Given the description of an element on the screen output the (x, y) to click on. 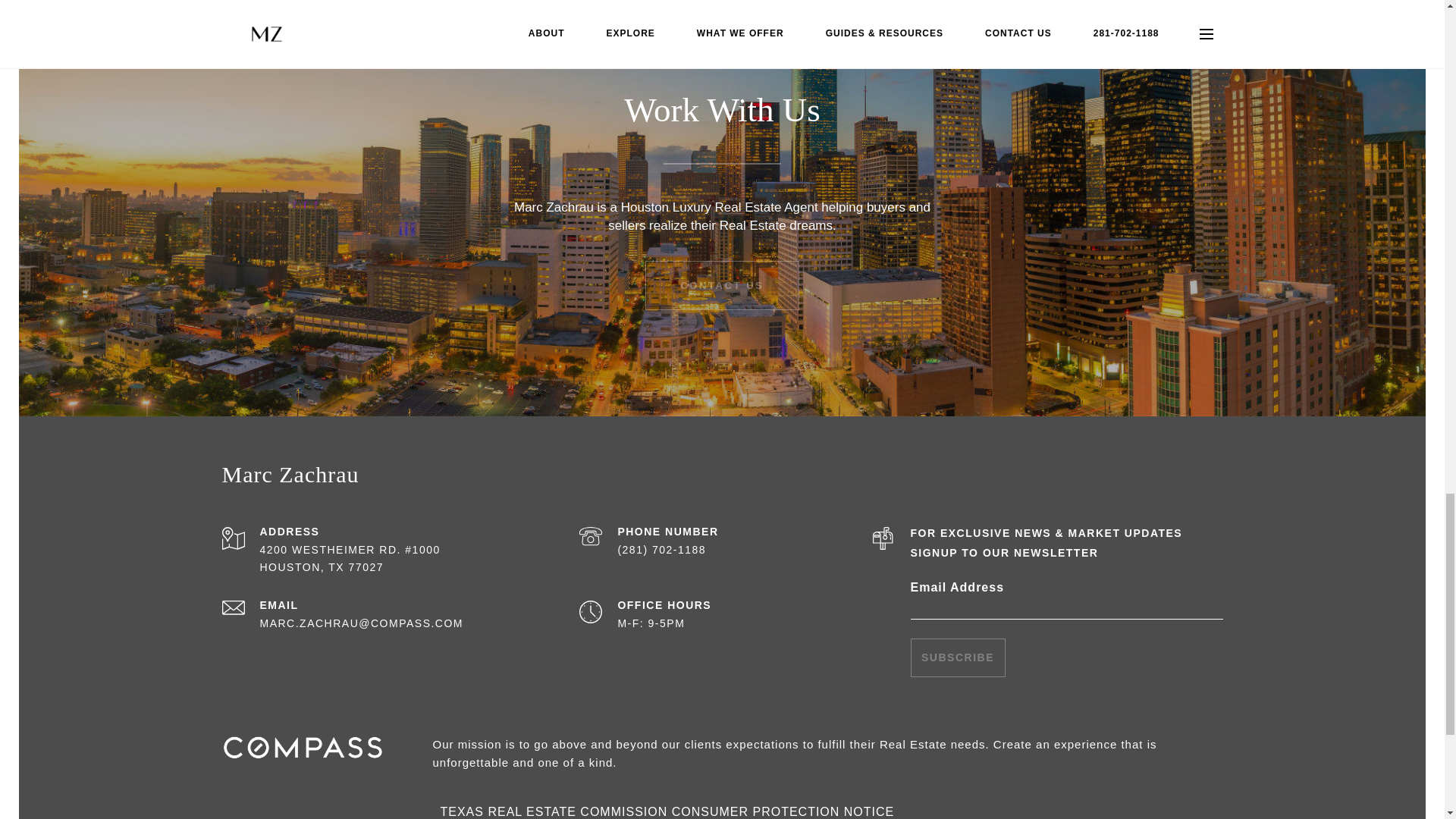
SUBSCRIBE (957, 657)
